Given the description of an element on the screen output the (x, y) to click on. 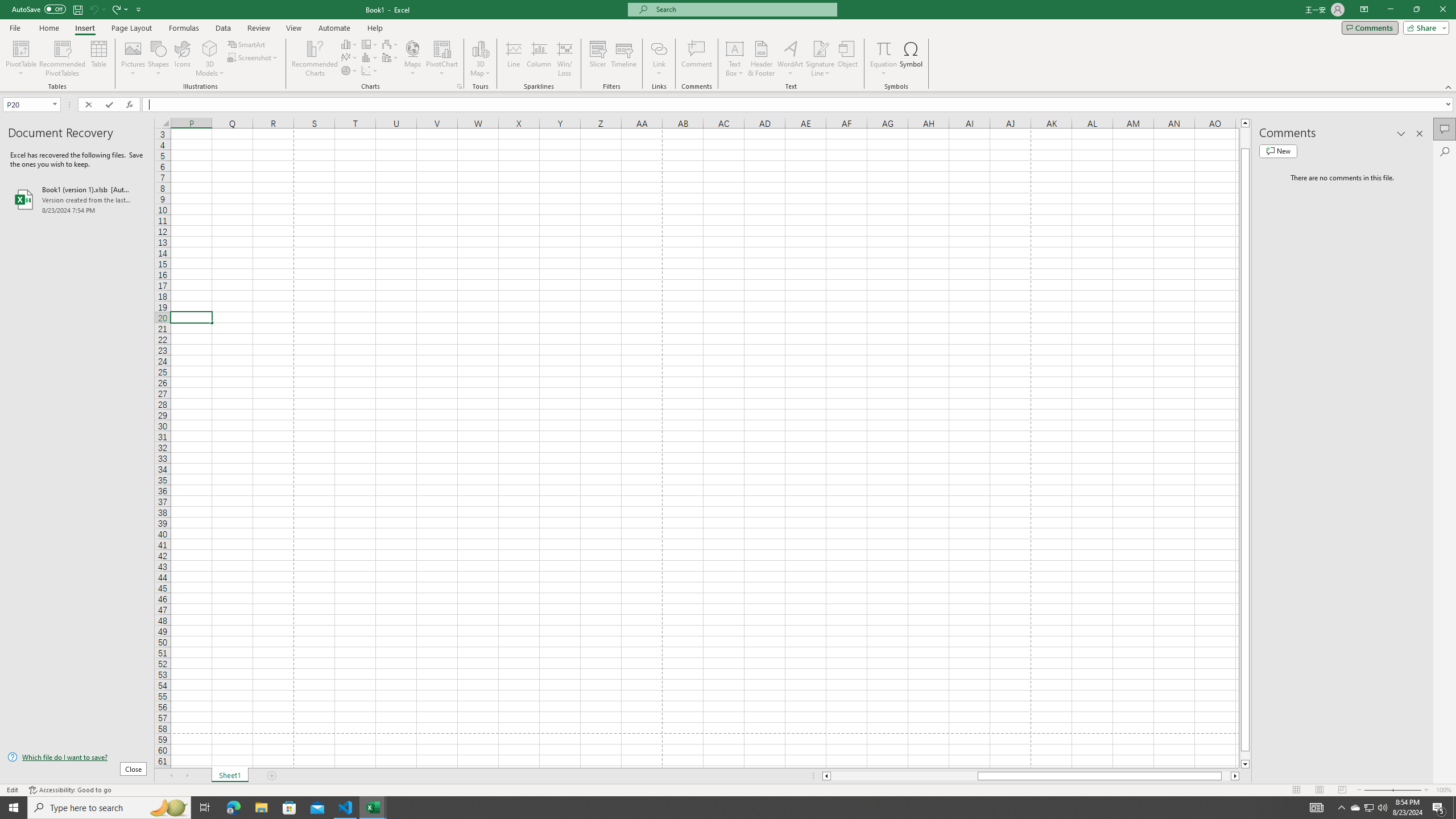
Shapes (158, 58)
3D Models (210, 48)
Link (659, 48)
Icons (182, 58)
3D Map (480, 48)
Link (659, 58)
